Given the description of an element on the screen output the (x, y) to click on. 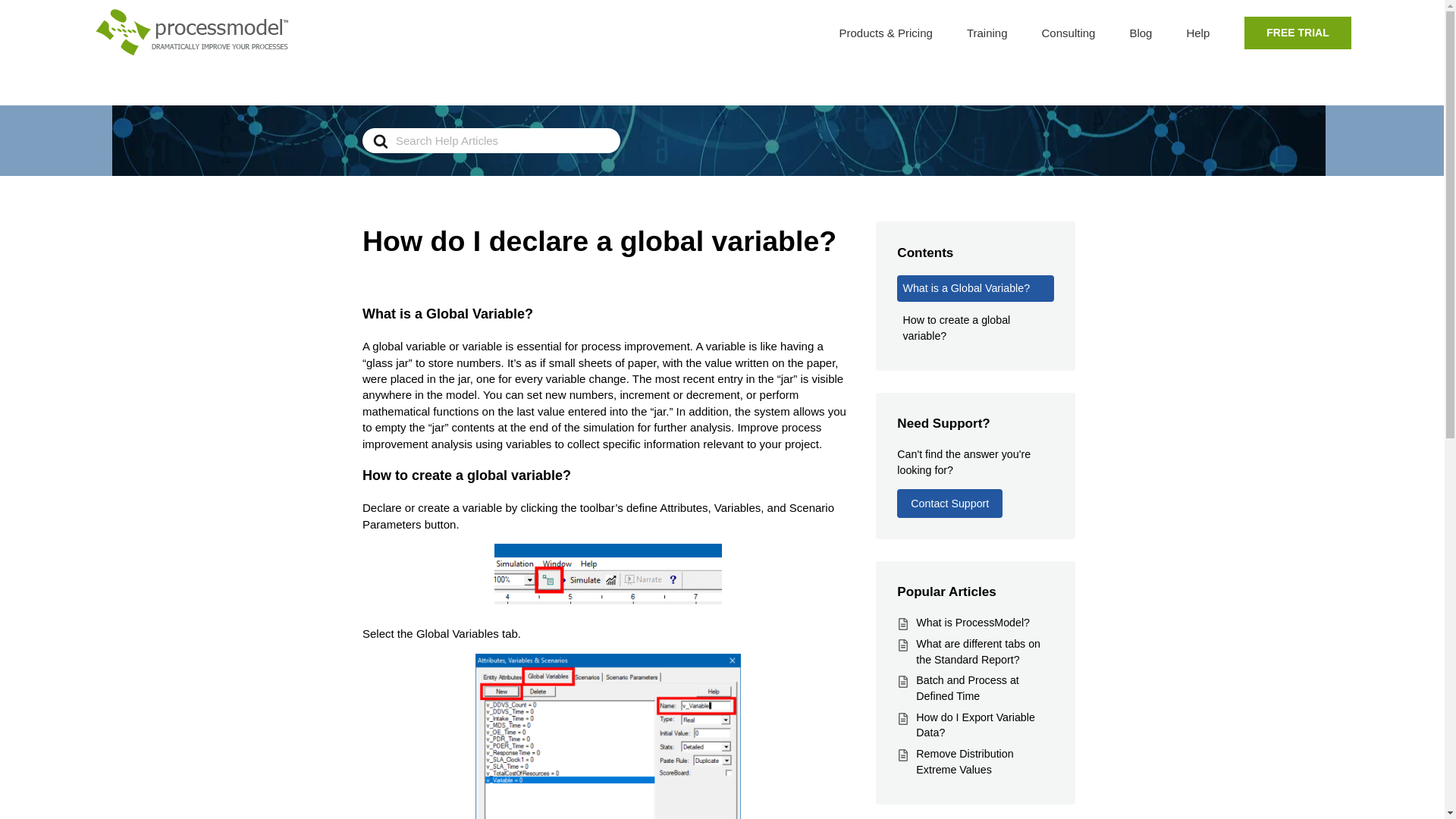
What is a Global Variable? (974, 288)
What are different tabs on the Standard Report? (978, 651)
FREE TRIAL (1297, 31)
How to create a global variable? (974, 328)
Remove Distribution Extreme Values (964, 761)
Contact Support (949, 502)
Batch and Process at Defined Time (966, 687)
What is ProcessModel? (972, 622)
How do I Export Variable Data? (975, 725)
Get started with a Free ProcessModel Trial (1297, 31)
